Given the description of an element on the screen output the (x, y) to click on. 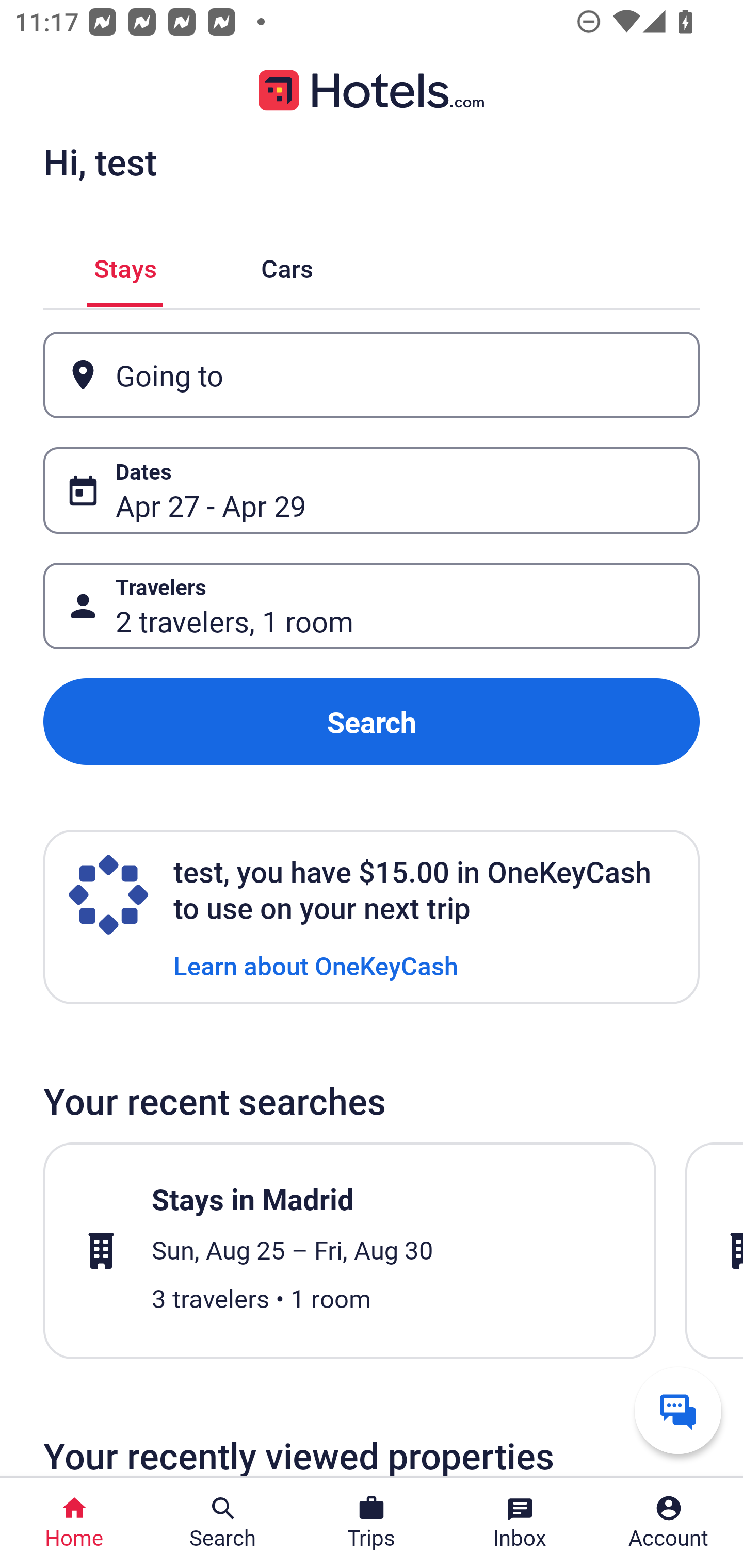
Hi, test (99, 161)
Cars (286, 265)
Going to Button (371, 375)
Dates Button Apr 27 - Apr 29 (371, 489)
Travelers Button 2 travelers, 1 room (371, 605)
Search (371, 721)
Learn about OneKeyCash Learn about OneKeyCash Link (315, 964)
Get help from a virtual agent (677, 1410)
Search Search Button (222, 1522)
Trips Trips Button (371, 1522)
Inbox Inbox Button (519, 1522)
Account Profile. Button (668, 1522)
